Given the description of an element on the screen output the (x, y) to click on. 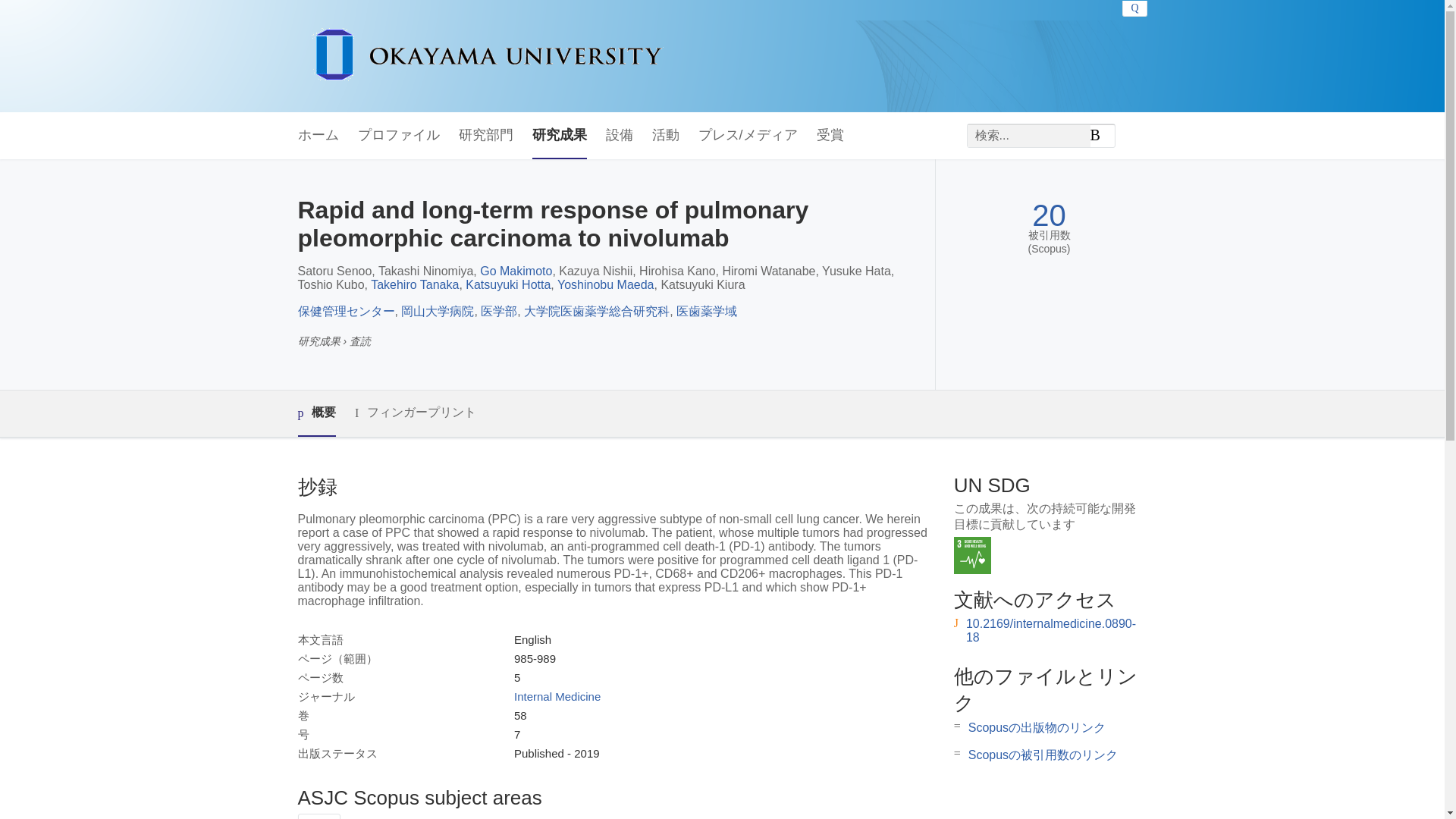
20 (1048, 215)
Yoshinobu Maeda (605, 284)
Takehiro Tanaka (414, 284)
Katsuyuki Hotta (507, 284)
Go Makimoto (515, 270)
Internal Medicine (556, 696)
